Given the description of an element on the screen output the (x, y) to click on. 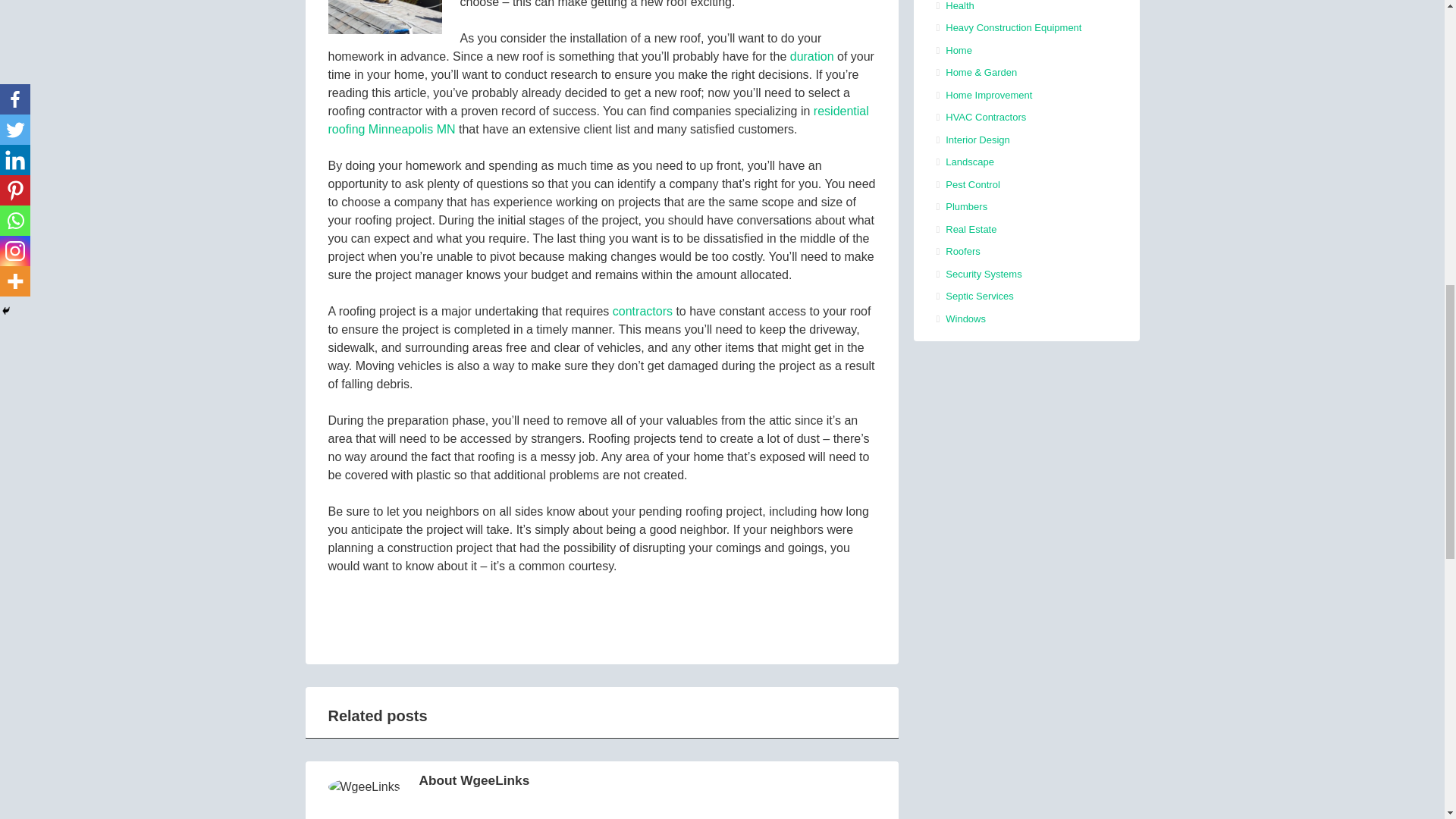
residential roofing Minneapolis MN (597, 119)
contractors (642, 310)
duration (812, 56)
